Given the description of an element on the screen output the (x, y) to click on. 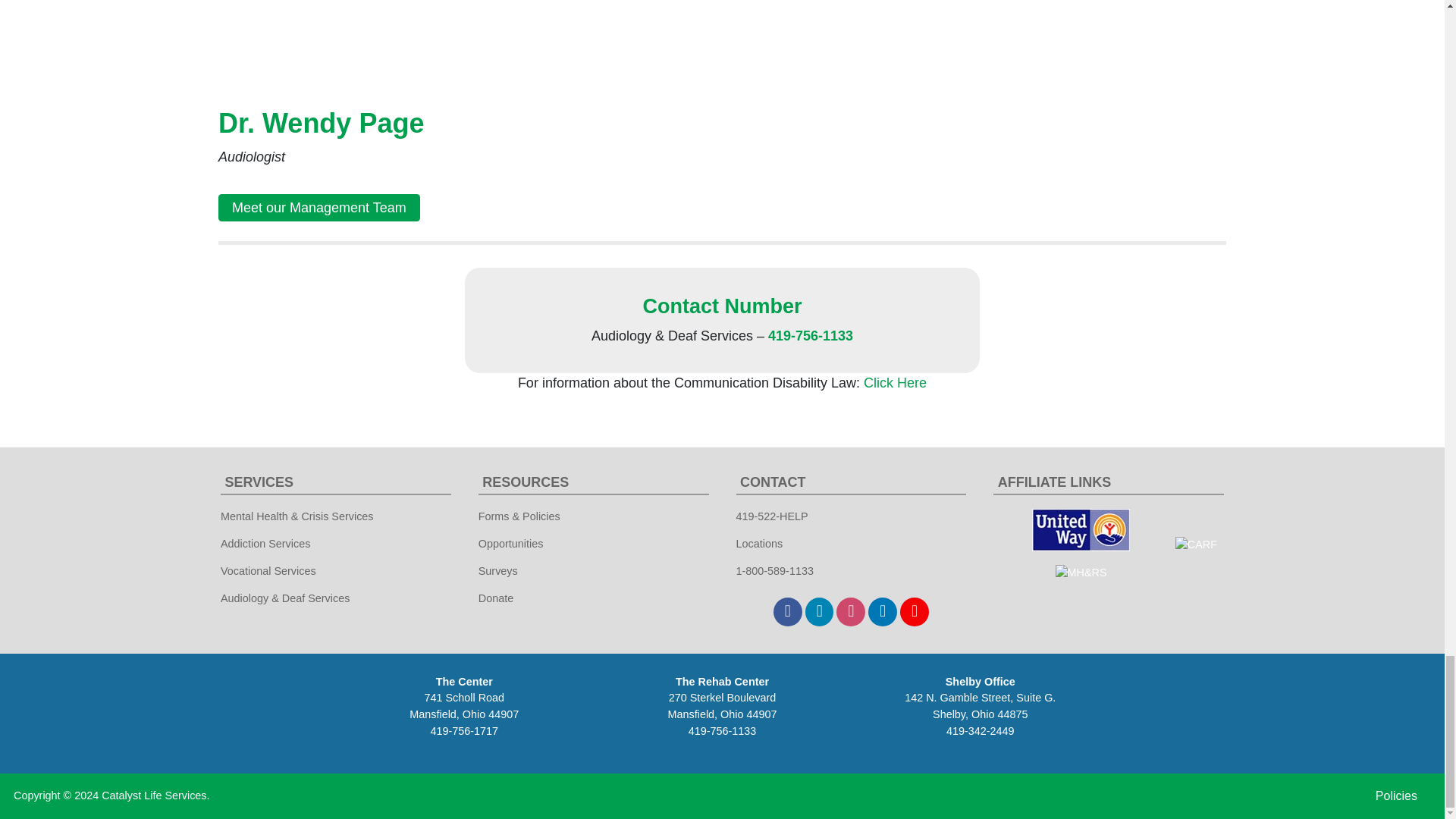
Twitter (819, 611)
Donate (496, 596)
Vocational Services (268, 569)
Surveys (497, 569)
Facebook (787, 611)
Opportunities (510, 542)
Policies (1396, 796)
LinkedIn (881, 611)
YouTube (913, 611)
Locations (758, 542)
419-756-1133 (810, 335)
419-522-HELP (771, 515)
Catalyst Headshots (369, 40)
Click Here (894, 382)
Instagram (849, 611)
